Given the description of an element on the screen output the (x, y) to click on. 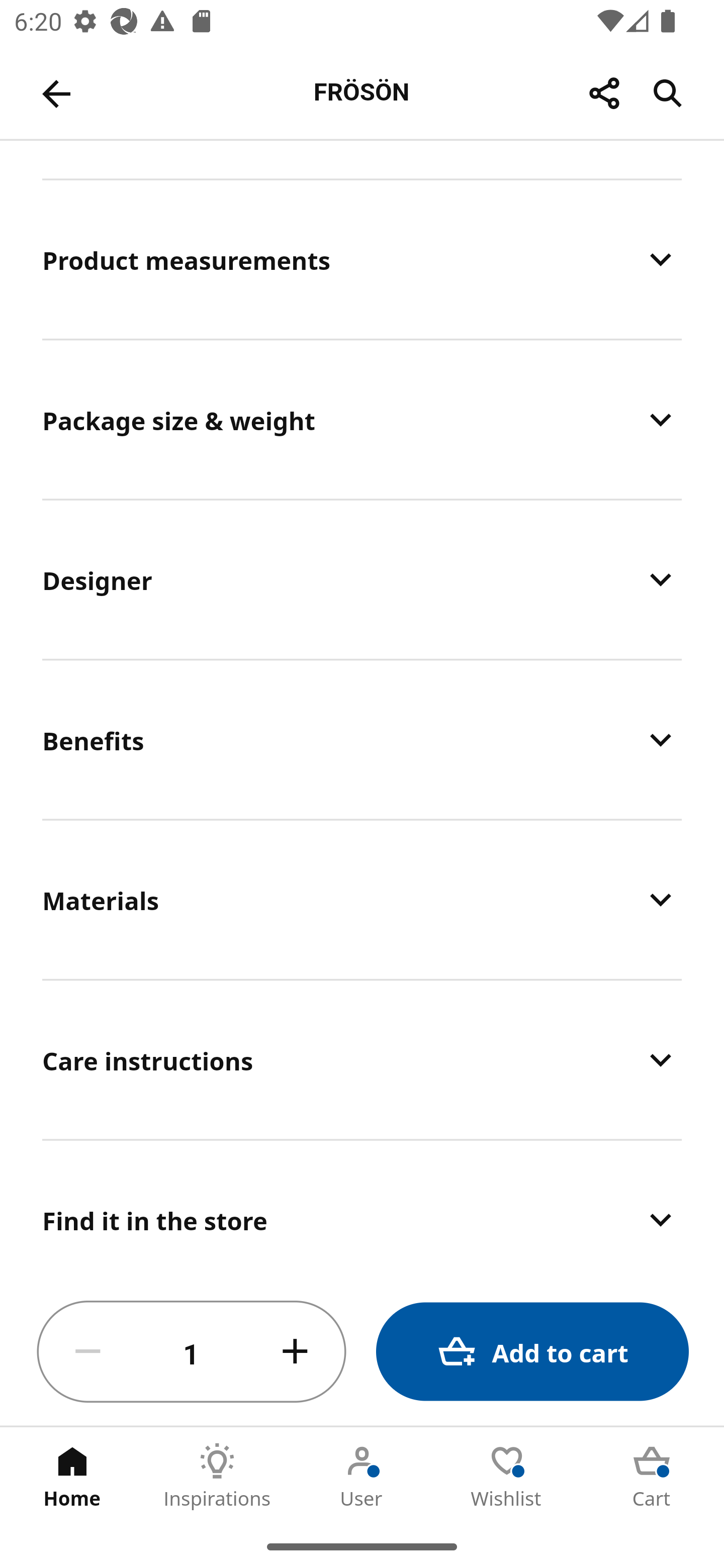
Product measurements (361, 259)
Package size & weight (361, 419)
Designer (361, 578)
Benefits (361, 738)
Materials (361, 898)
Care instructions (361, 1059)
Find it in the store (361, 1210)
Add to cart (531, 1352)
1 (191, 1352)
Home
Tab 1 of 5 (72, 1476)
Inspirations
Tab 2 of 5 (216, 1476)
User
Tab 3 of 5 (361, 1476)
Wishlist
Tab 4 of 5 (506, 1476)
Cart
Tab 5 of 5 (651, 1476)
